Given the description of an element on the screen output the (x, y) to click on. 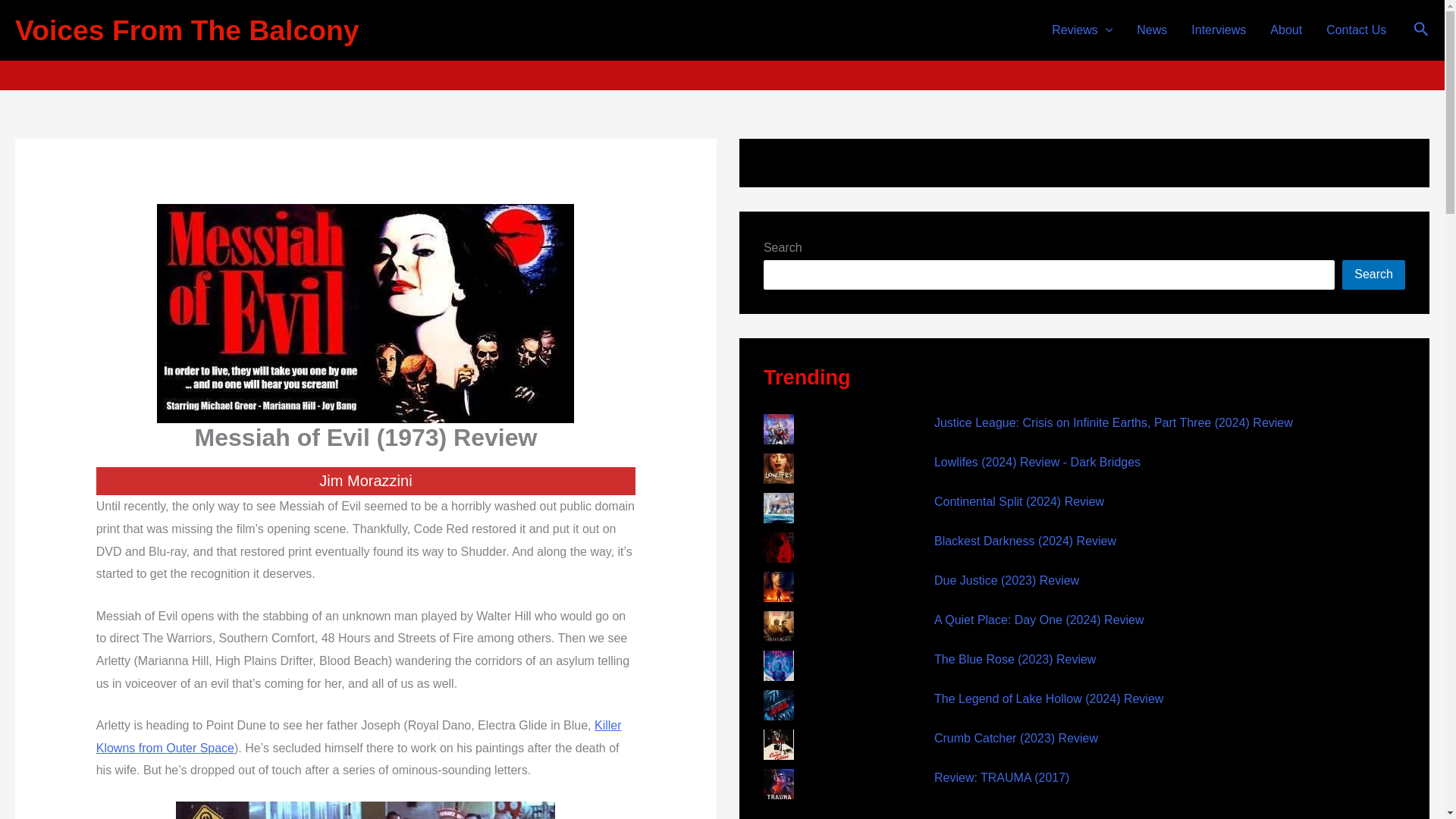
Reviews (1081, 30)
Interviews (1218, 30)
Contact Us (1355, 30)
About (1285, 30)
View all posts by Jim Morazzini (731, 44)
Killer Klowns from Outer Space (358, 736)
Jim Morazzini (731, 44)
Search (1373, 274)
Voices From The Balcony (186, 29)
News (1151, 30)
